Given the description of an element on the screen output the (x, y) to click on. 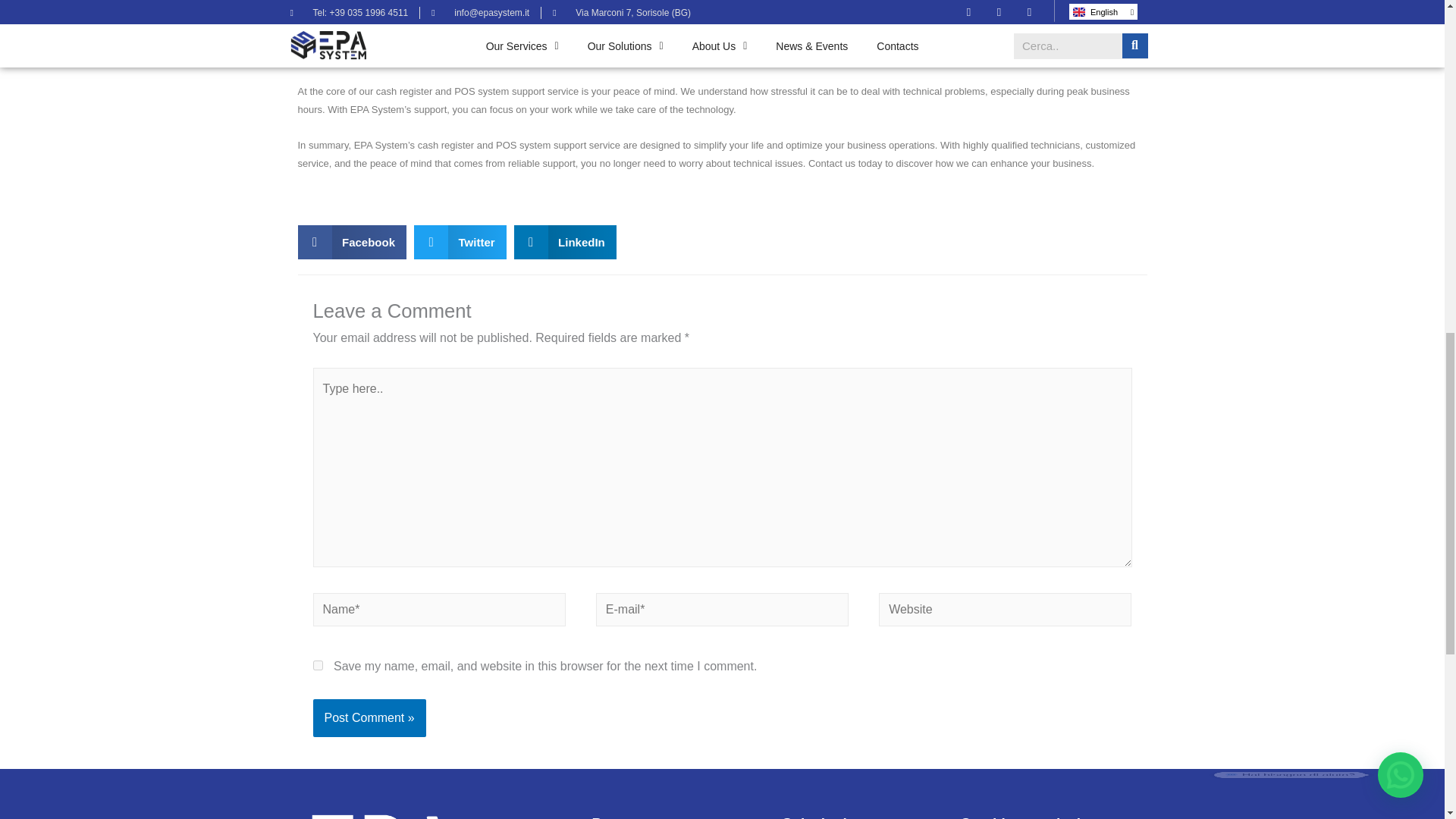
yes (317, 665)
